Given the description of an element on the screen output the (x, y) to click on. 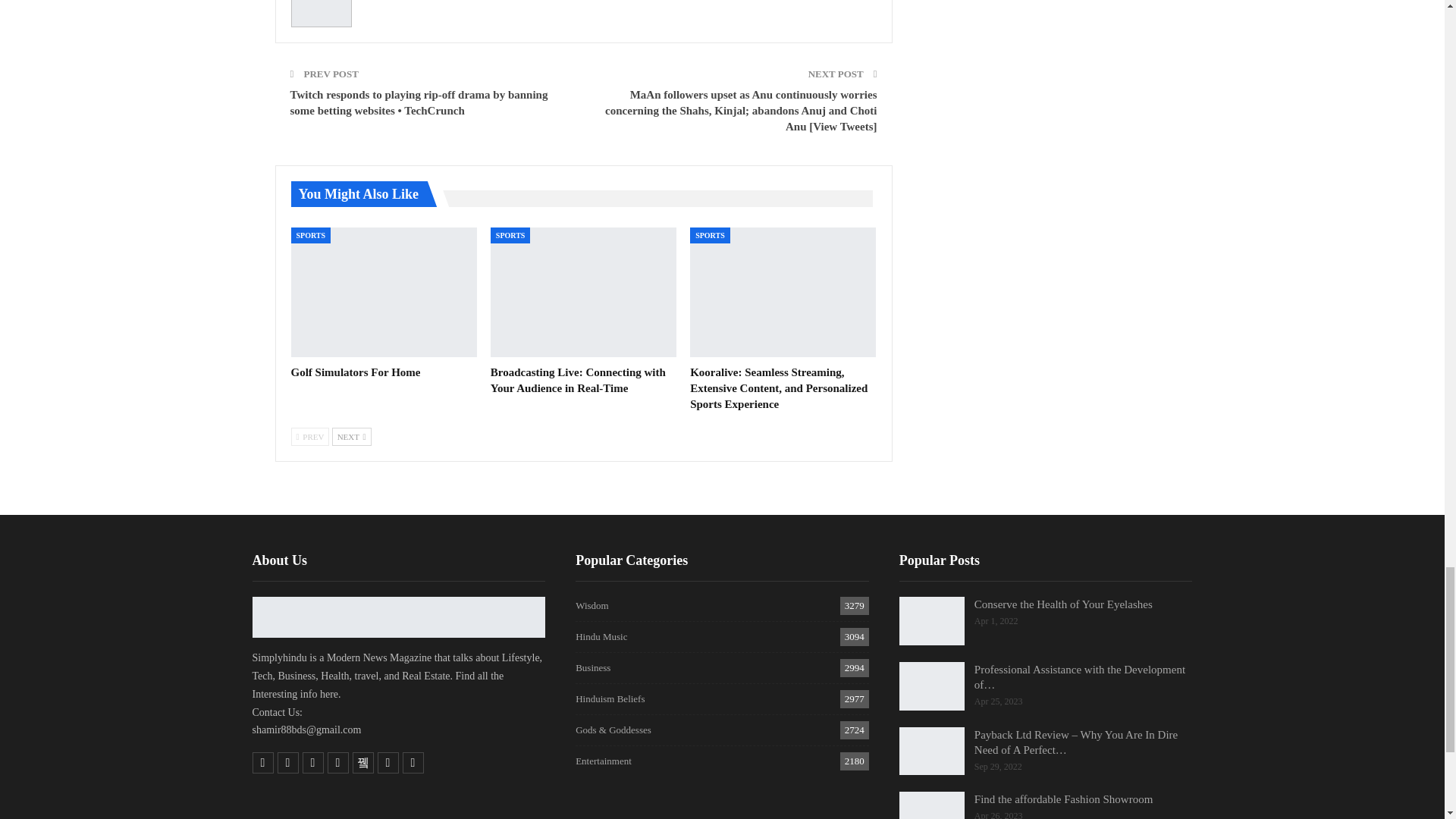
Golf Simulators For Home (355, 372)
Golf Simulators For Home (384, 292)
